Given the description of an element on the screen output the (x, y) to click on. 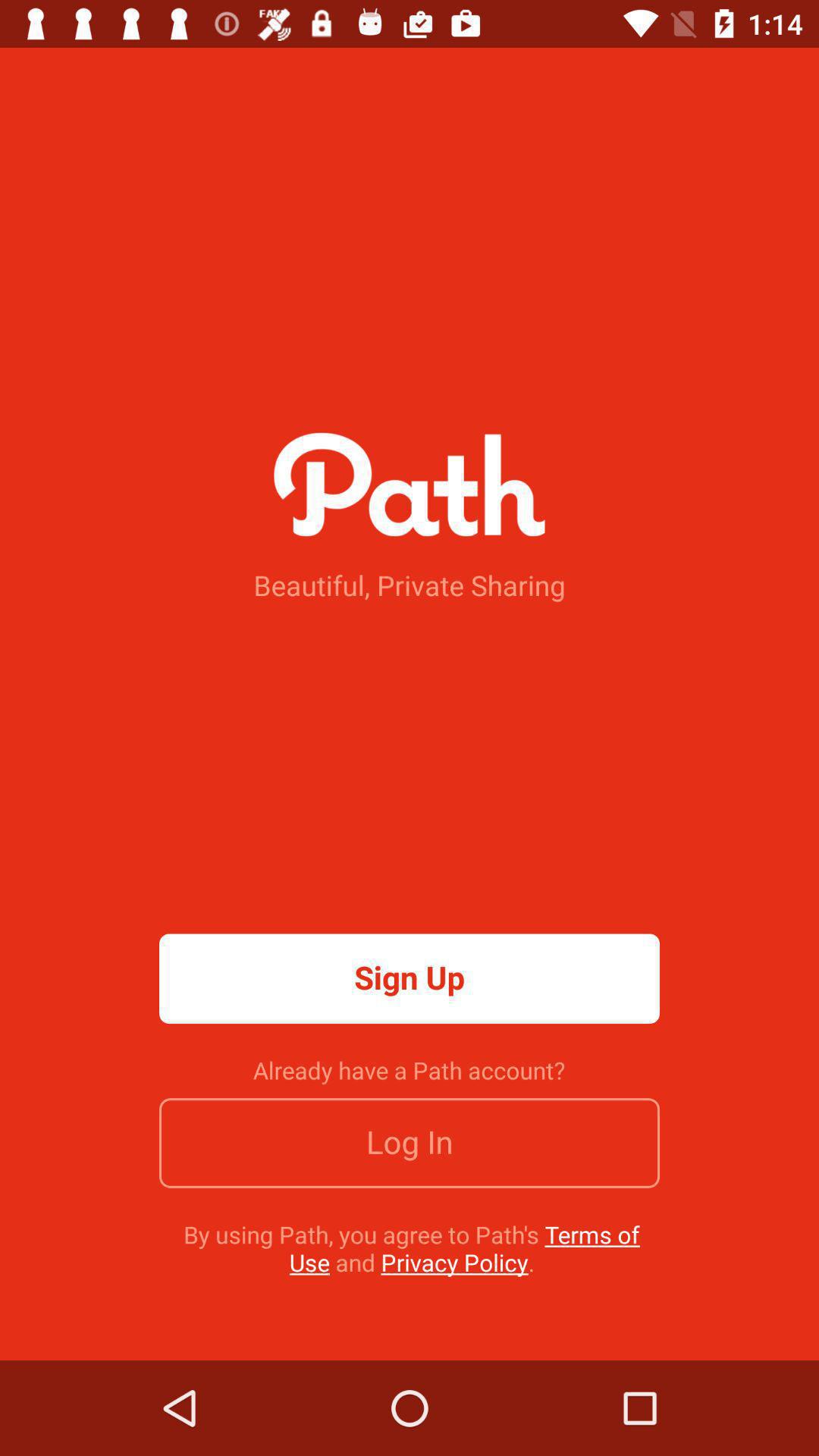
click item below the already have a item (409, 1143)
